Given the description of an element on the screen output the (x, y) to click on. 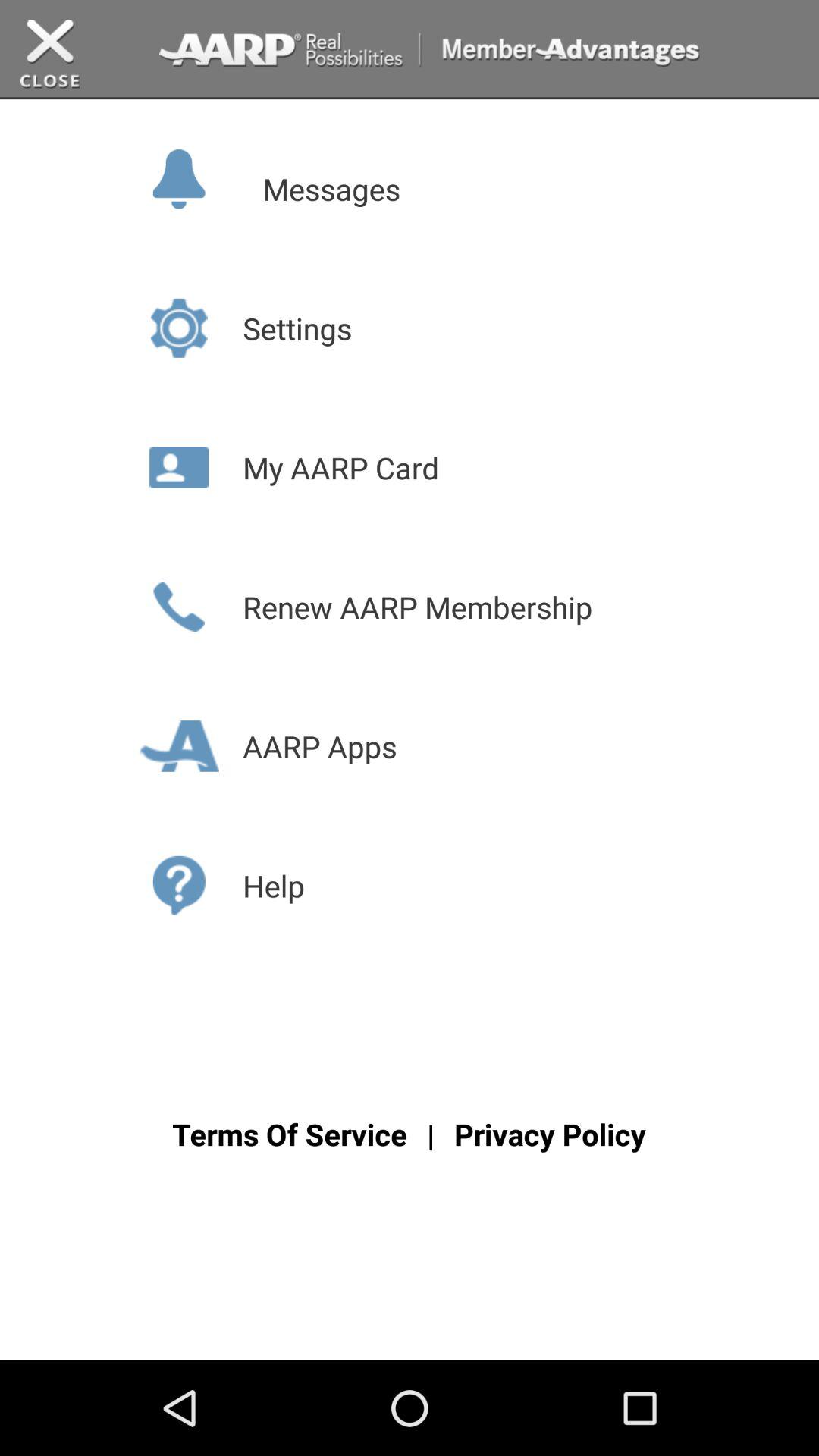
select the messages icon on the page (209, 176)
select the settings icon which is under the bell icon (179, 328)
go to close (50, 54)
select help icon on the page (179, 884)
select the text terms of services (289, 1134)
